Given the description of an element on the screen output the (x, y) to click on. 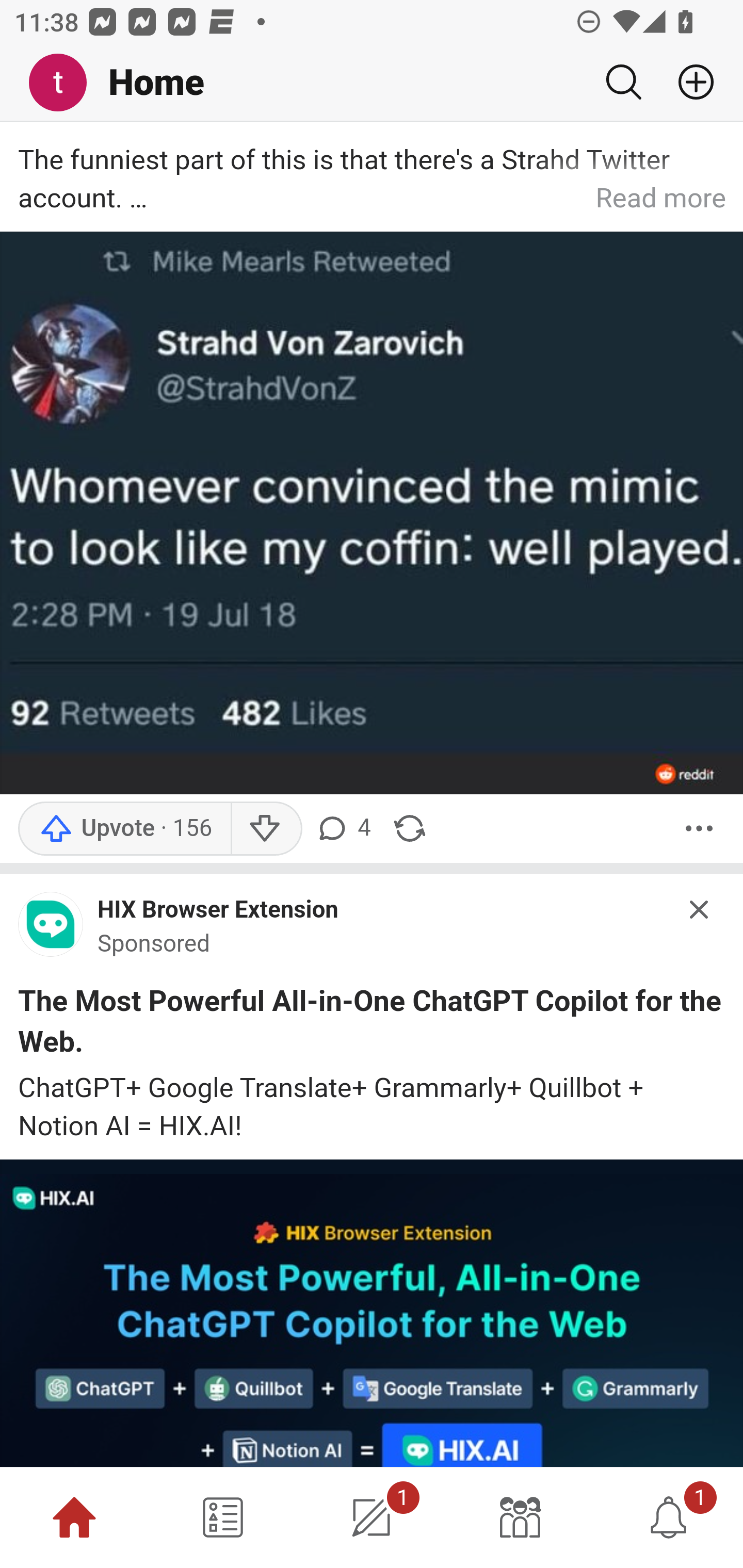
Me (64, 83)
Search (623, 82)
Add (688, 82)
Upvote (124, 828)
Downvote (266, 828)
4 comments (346, 828)
Share (409, 828)
More (699, 828)
Hide (699, 909)
main-qimg-a26aff9df7f072be8b0645a7a8a9dc4b (50, 928)
HIX Browser Extension (218, 910)
1 (371, 1517)
1 (668, 1517)
